Given the description of an element on the screen output the (x, y) to click on. 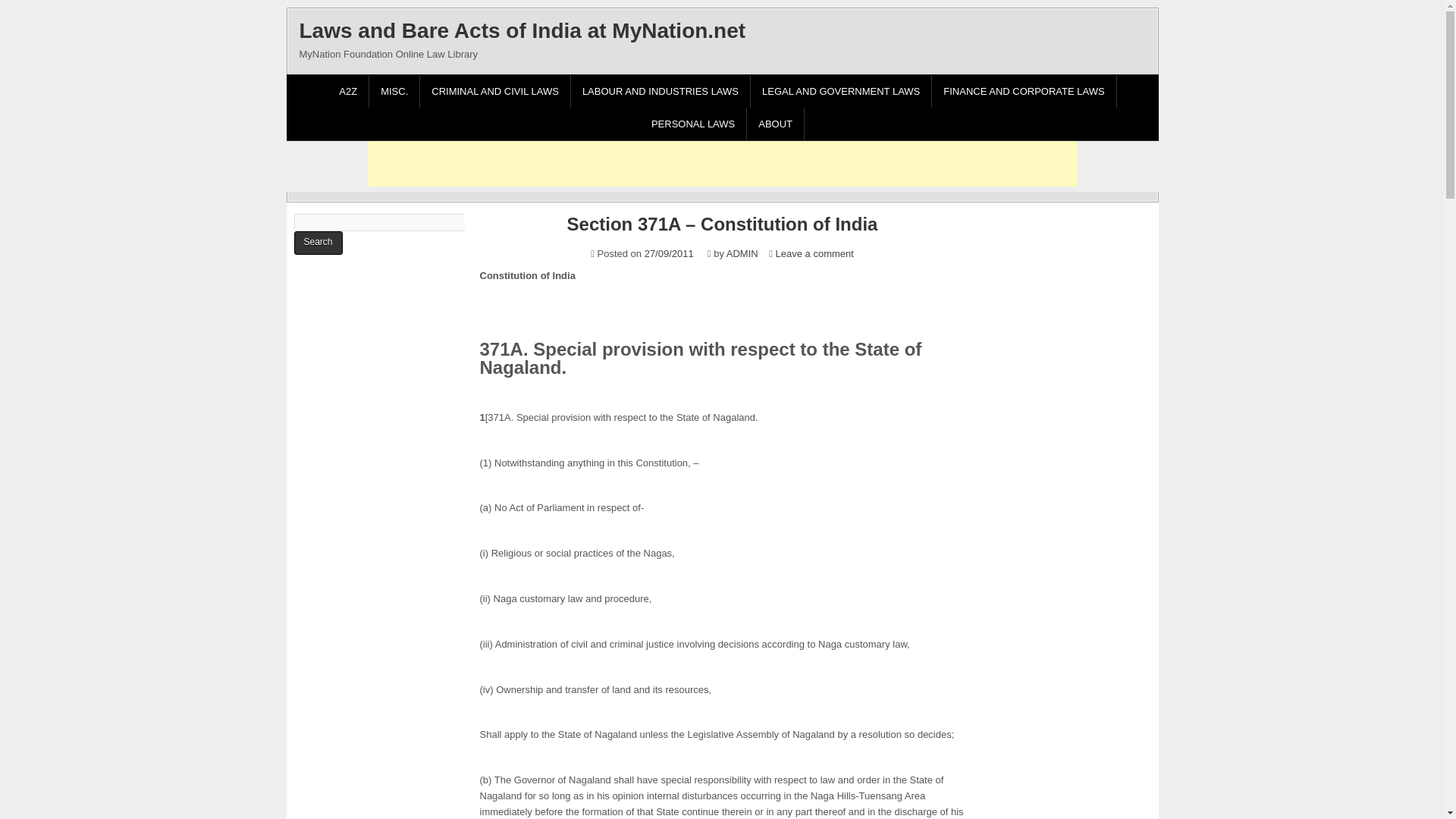
ADMIN (742, 253)
PERSONAL LAWS (693, 123)
LABOUR AND INDUSTRIES LAWS (660, 91)
Search (318, 242)
ABOUT (775, 123)
Search (318, 242)
A2Z (348, 91)
MISC. (394, 91)
CRIMINAL AND CIVIL LAWS (495, 91)
FINANCE AND CORPORATE LAWS (1023, 91)
LEGAL AND GOVERNMENT LAWS (841, 91)
Leave a comment (814, 253)
Laws and Bare Acts of India at MyNation.net (521, 30)
